Given the description of an element on the screen output the (x, y) to click on. 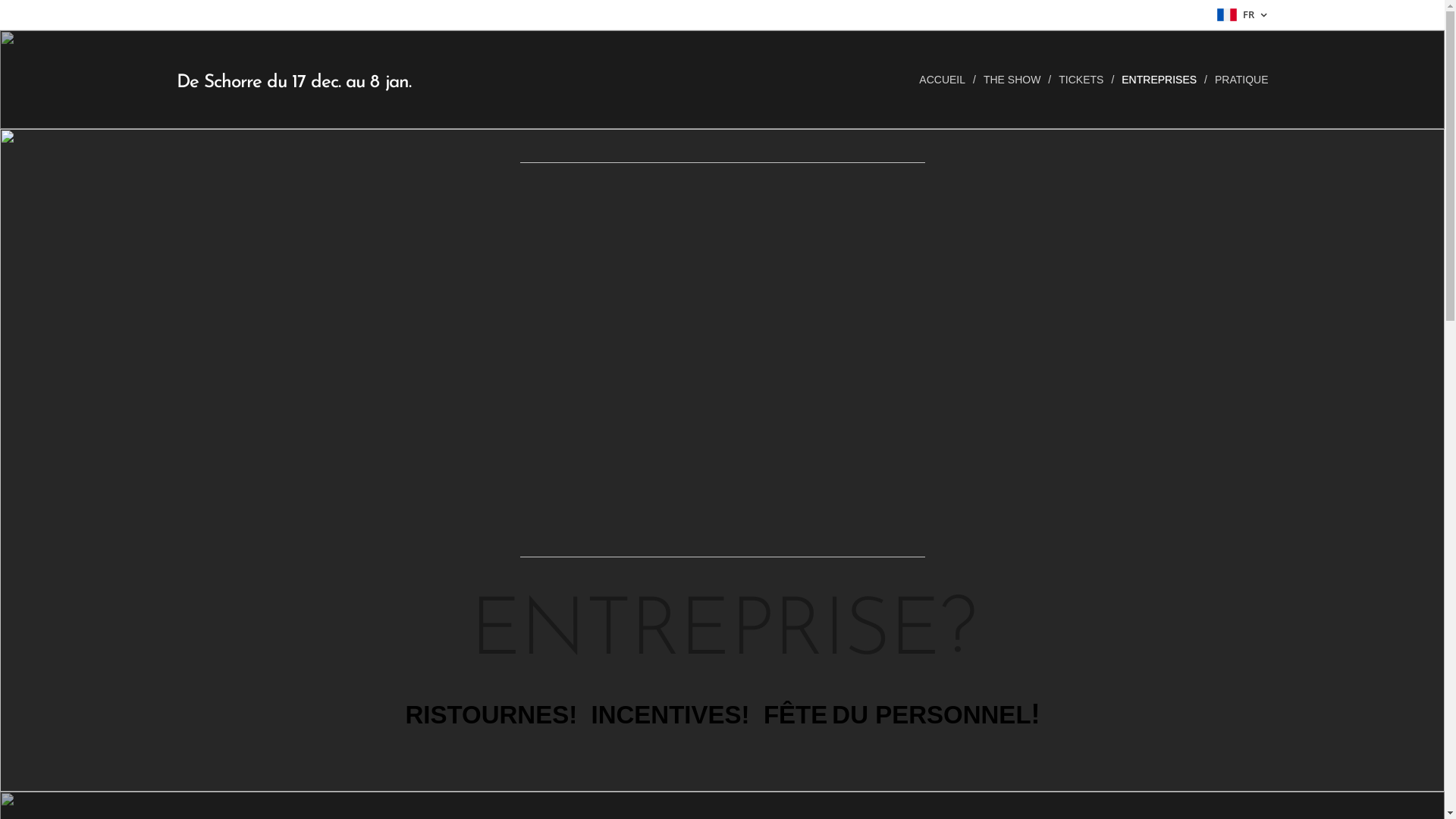
ENTREPRISES Element type: text (1160, 79)
THE SHOW Element type: text (1013, 79)
ACCUEIL Element type: text (945, 79)
PRATIQUE Element type: text (1237, 79)
De Schorre du 17 dec. au 8 jan. Element type: text (293, 79)
TICKETS Element type: text (1082, 79)
